Given the description of an element on the screen output the (x, y) to click on. 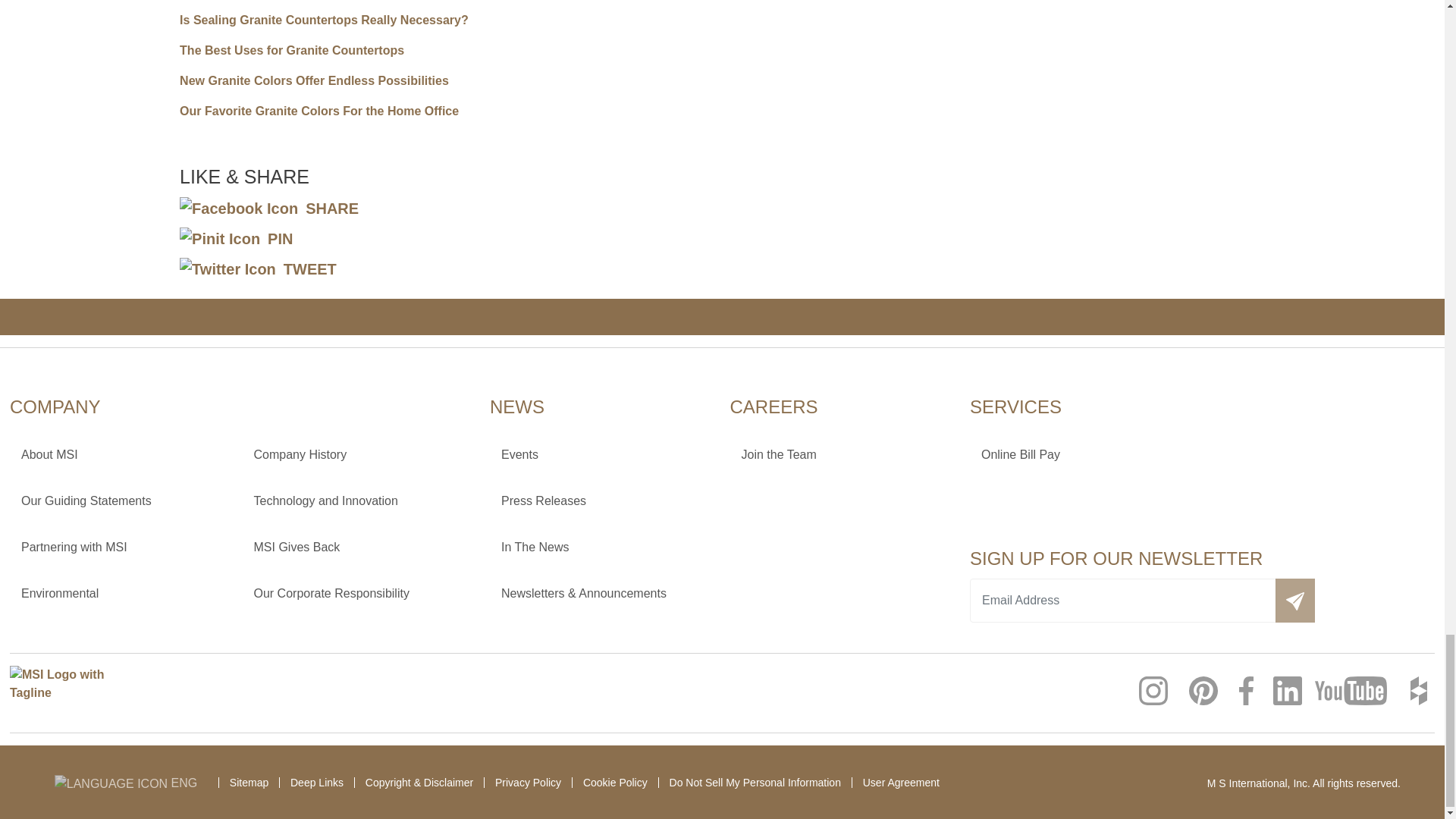
Share on Pinterest (235, 238)
Share on Facebook (268, 208)
Share on Twitter (257, 269)
